Given the description of an element on the screen output the (x, y) to click on. 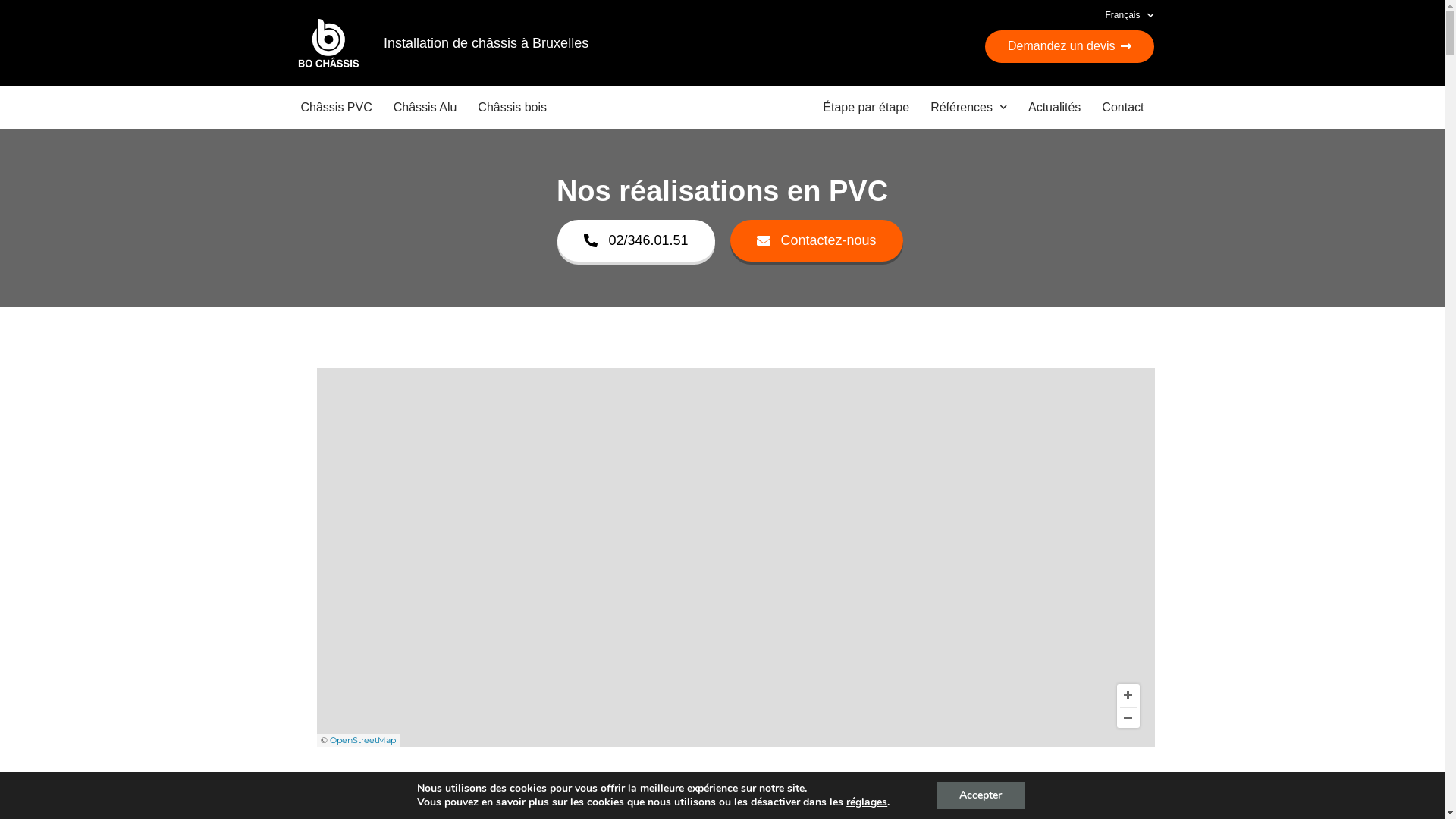
02/346.01.51 Element type: text (635, 240)
OpenStreetMap Element type: text (362, 739)
Demandez un devis Element type: text (1069, 46)
Accepter Element type: text (980, 795)
Contact Element type: text (1122, 107)
Contactez-nous Element type: text (815, 240)
